Given the description of an element on the screen output the (x, y) to click on. 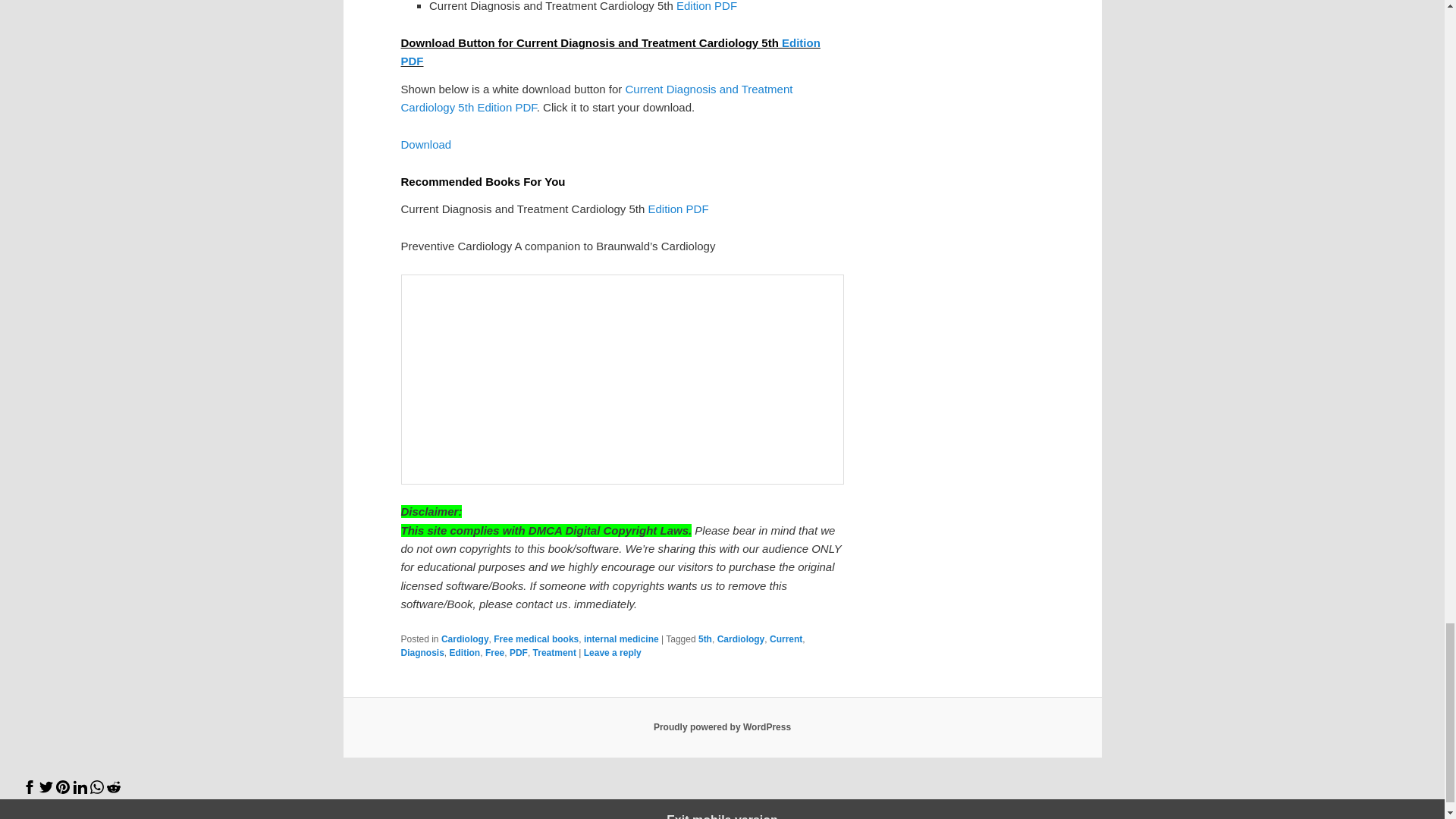
Edition PDF (609, 51)
Cardiology (465, 638)
Free medical books (535, 638)
Free (493, 652)
Edition PDF (678, 208)
Semantic Personal Publishing Platform (721, 726)
Diagnosis (422, 652)
internal medicine (621, 638)
Current (786, 638)
5th (704, 638)
